Given the description of an element on the screen output the (x, y) to click on. 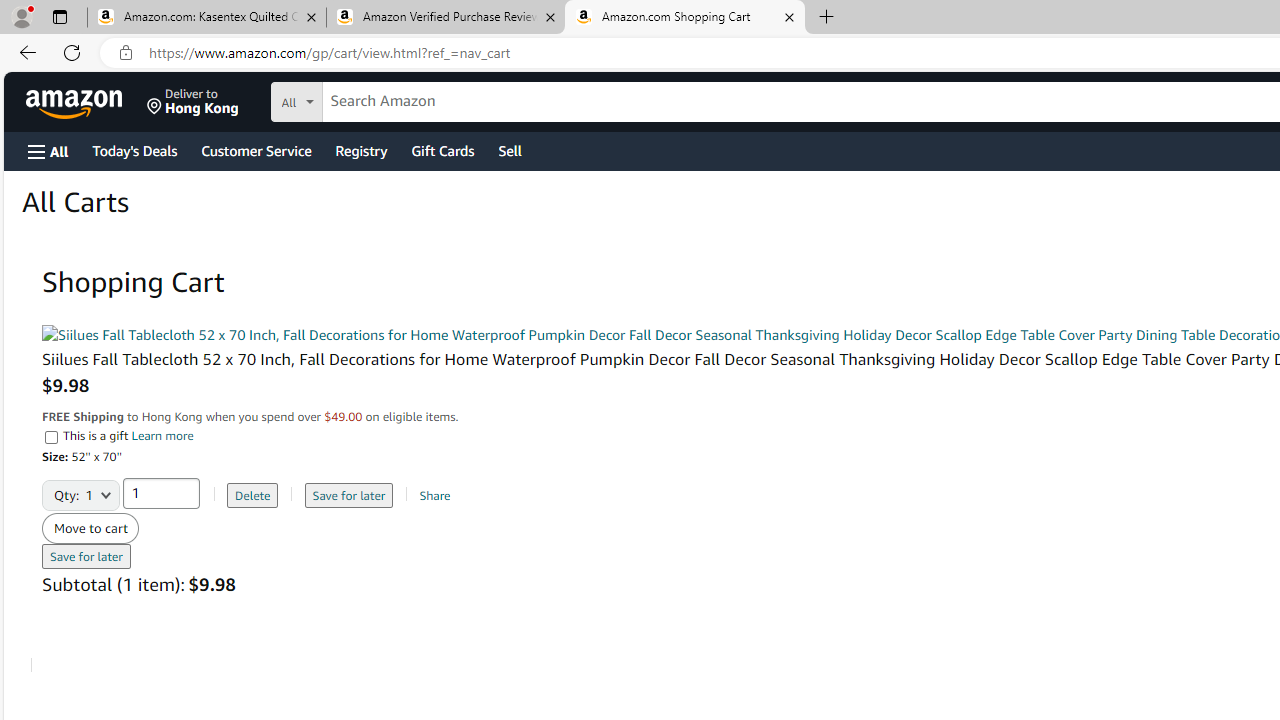
Deliver to Hong Kong (193, 101)
Gift Cards (442, 150)
Skip to main content (86, 100)
Today's Deals (134, 150)
Search in (371, 99)
Sell (509, 150)
